Given the description of an element on the screen output the (x, y) to click on. 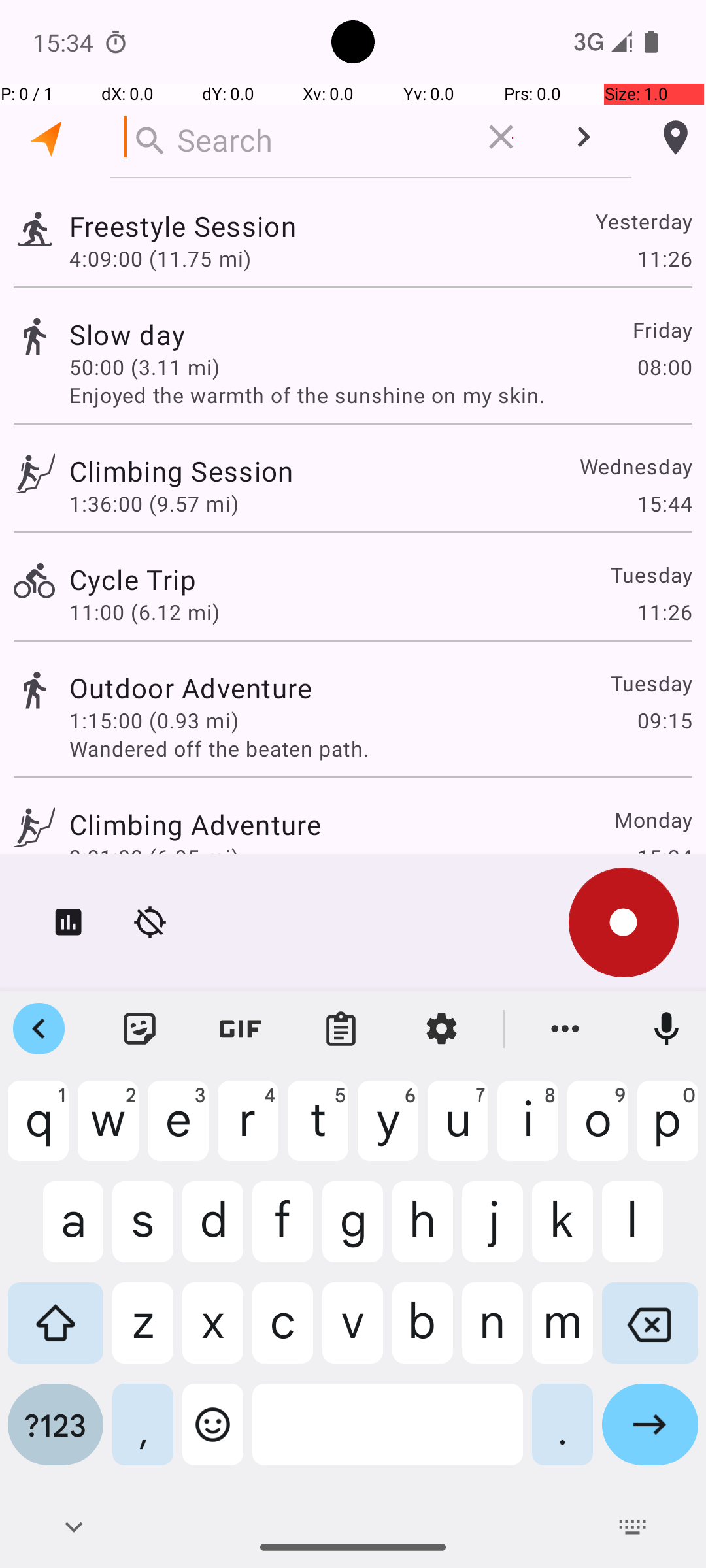
Freestyle Session Element type: android.widget.TextView (182, 225)
4:09:00 (11.75 mi) Element type: android.widget.TextView (159, 258)
11:26 Element type: android.widget.TextView (664, 258)
50:00 (3.11 mi) Element type: android.widget.TextView (144, 366)
Enjoyed the warmth of the sunshine on my skin. Element type: android.widget.TextView (380, 394)
Climbing Session Element type: android.widget.TextView (180, 470)
1:36:00 (9.57 mi) Element type: android.widget.TextView (153, 503)
15:44 Element type: android.widget.TextView (664, 503)
11:00 (6.12 mi) Element type: android.widget.TextView (144, 611)
1:15:00 (0.93 mi) Element type: android.widget.TextView (153, 720)
09:15 Element type: android.widget.TextView (664, 720)
Wandered off the beaten path. Element type: android.widget.TextView (380, 748)
Climbing Adventure Element type: android.widget.TextView (194, 823)
3:31:00 (6.95 mi) Element type: android.widget.TextView (153, 856)
Go Element type: android.widget.FrameLayout (649, 1434)
